Given the description of an element on the screen output the (x, y) to click on. 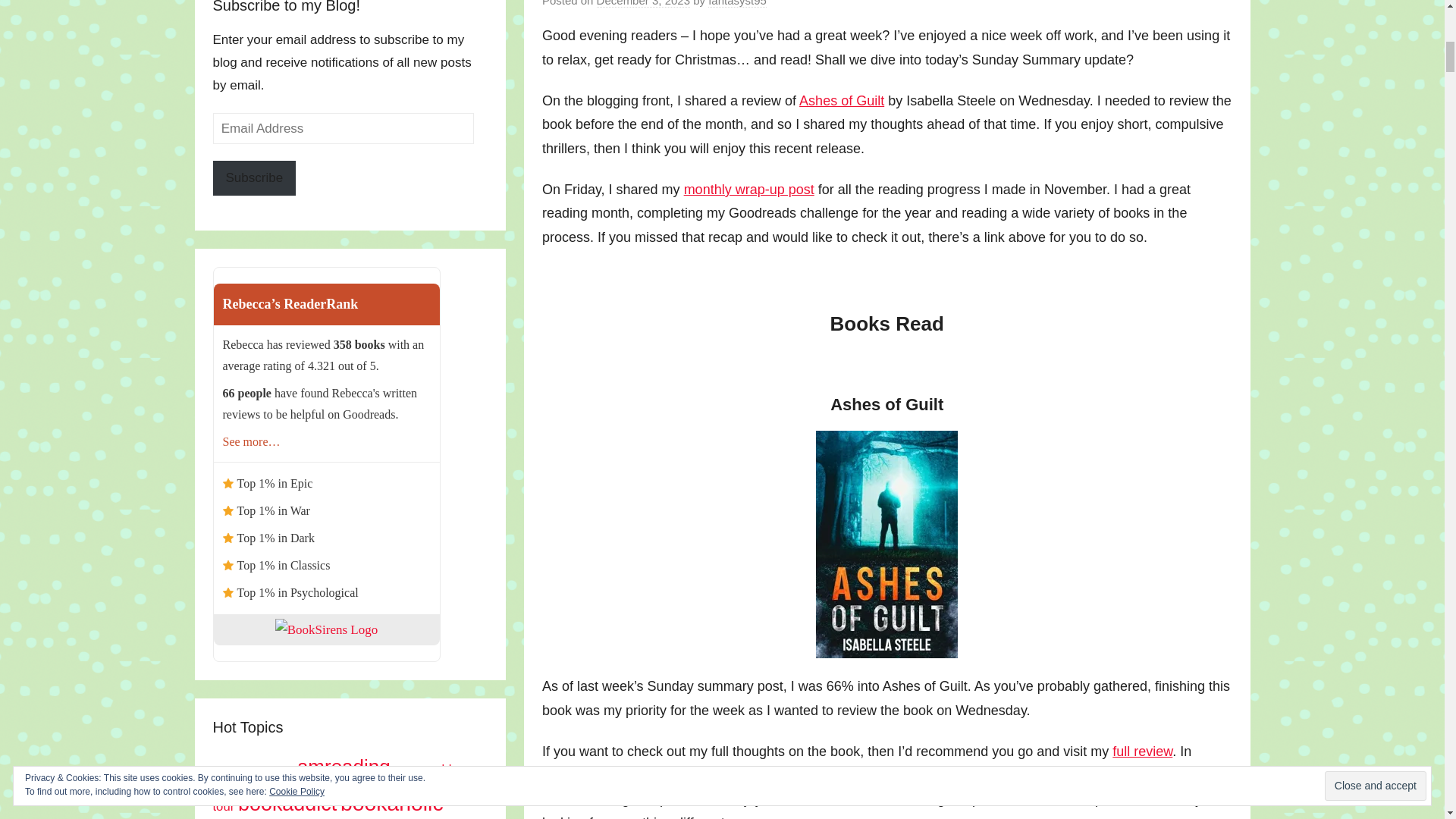
fantasyst95 (737, 3)
View all posts by fantasyst95 (737, 3)
Ashes of Guilt (841, 100)
full review (1142, 751)
December 3, 2023 (643, 3)
monthly wrap-up post (748, 189)
